Given the description of an element on the screen output the (x, y) to click on. 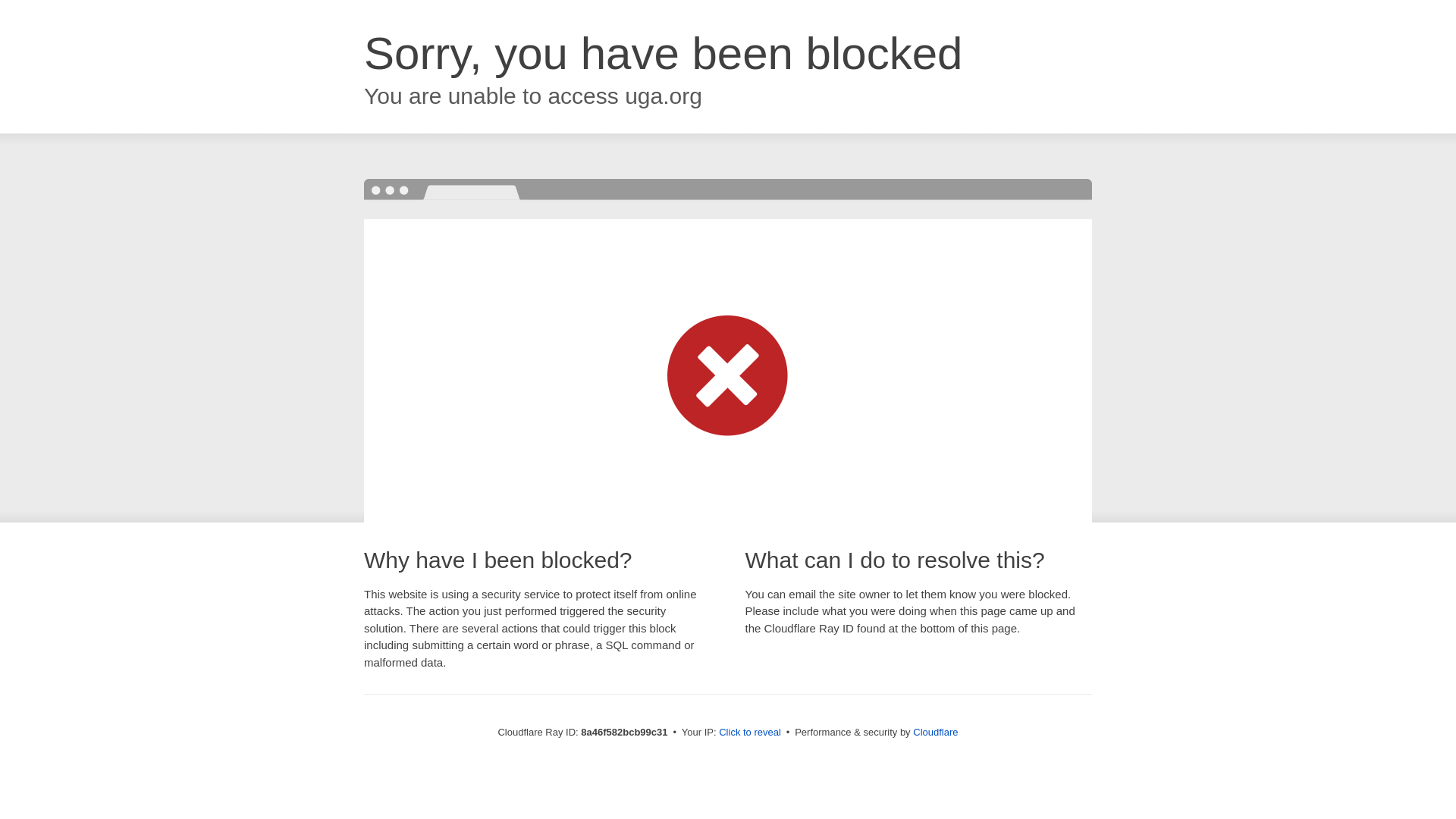
Click to reveal (749, 732)
Cloudflare (935, 731)
